Given the description of an element on the screen output the (x, y) to click on. 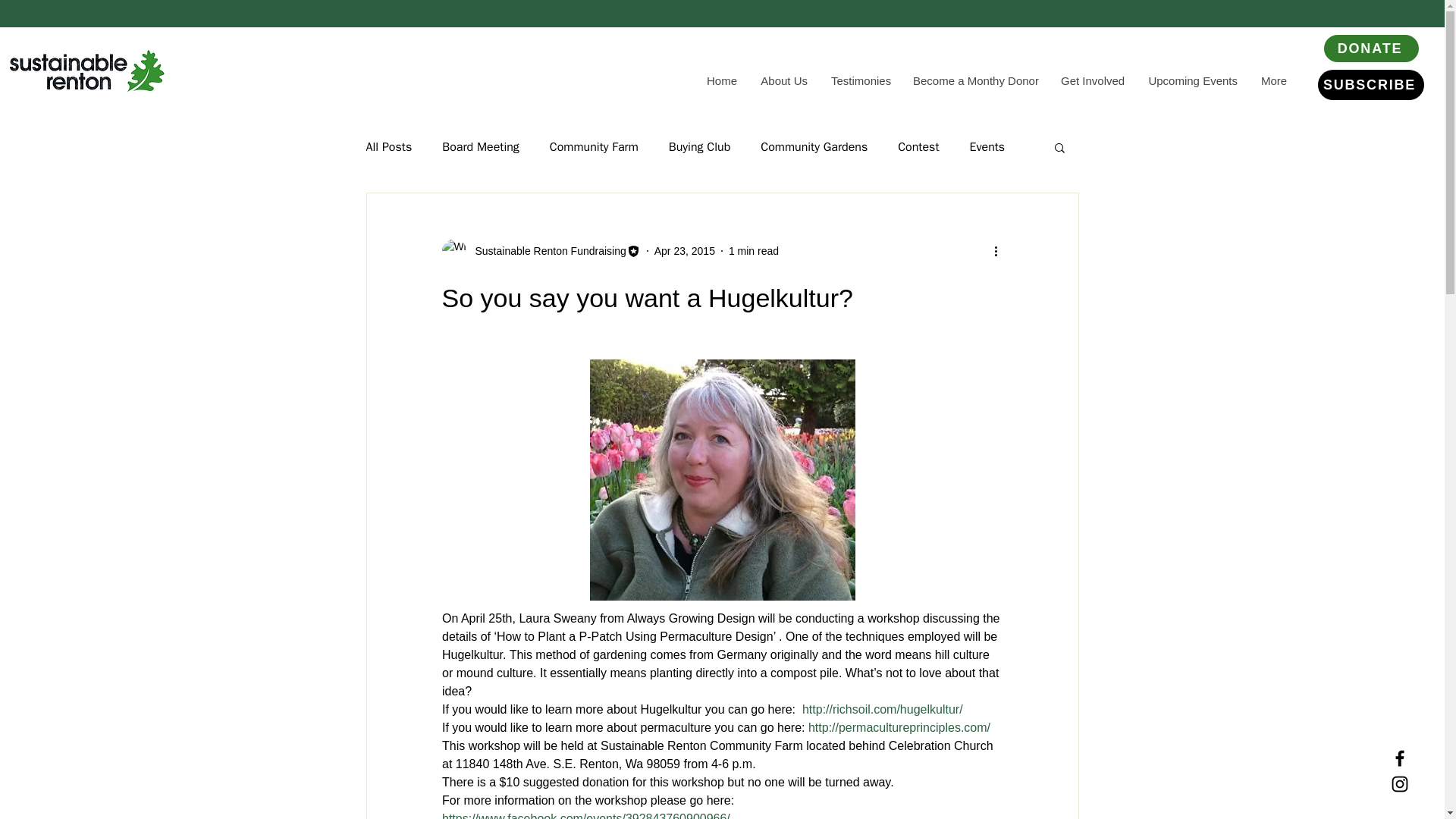
All Posts (388, 147)
Become a Monthy Donor (974, 80)
Sustainable Renton Fundraising (540, 250)
Upcoming Events (1192, 80)
1 min read (753, 250)
Sustainable Renton Fundraising (545, 250)
Events (987, 147)
Community Farm (594, 147)
Testimonies (859, 80)
SUBSCRIBE (1370, 84)
Board Meeting (480, 147)
Community Gardens (813, 147)
Buying Club (699, 147)
Home (721, 80)
About Us (783, 80)
